Given the description of an element on the screen output the (x, y) to click on. 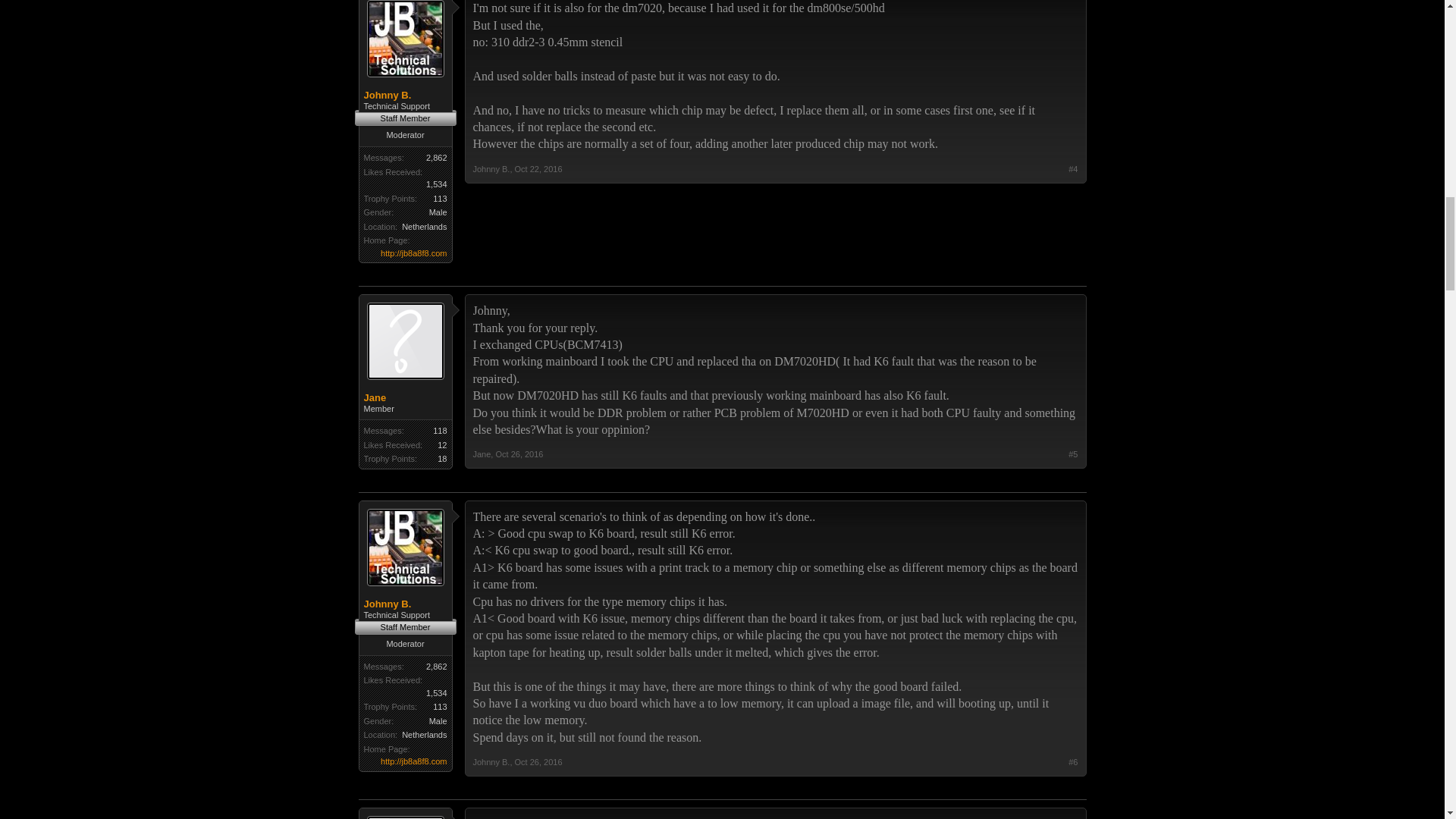
Permalink (519, 453)
Permalink (538, 761)
Permalink (538, 168)
Johnny B. (405, 95)
